Given the description of an element on the screen output the (x, y) to click on. 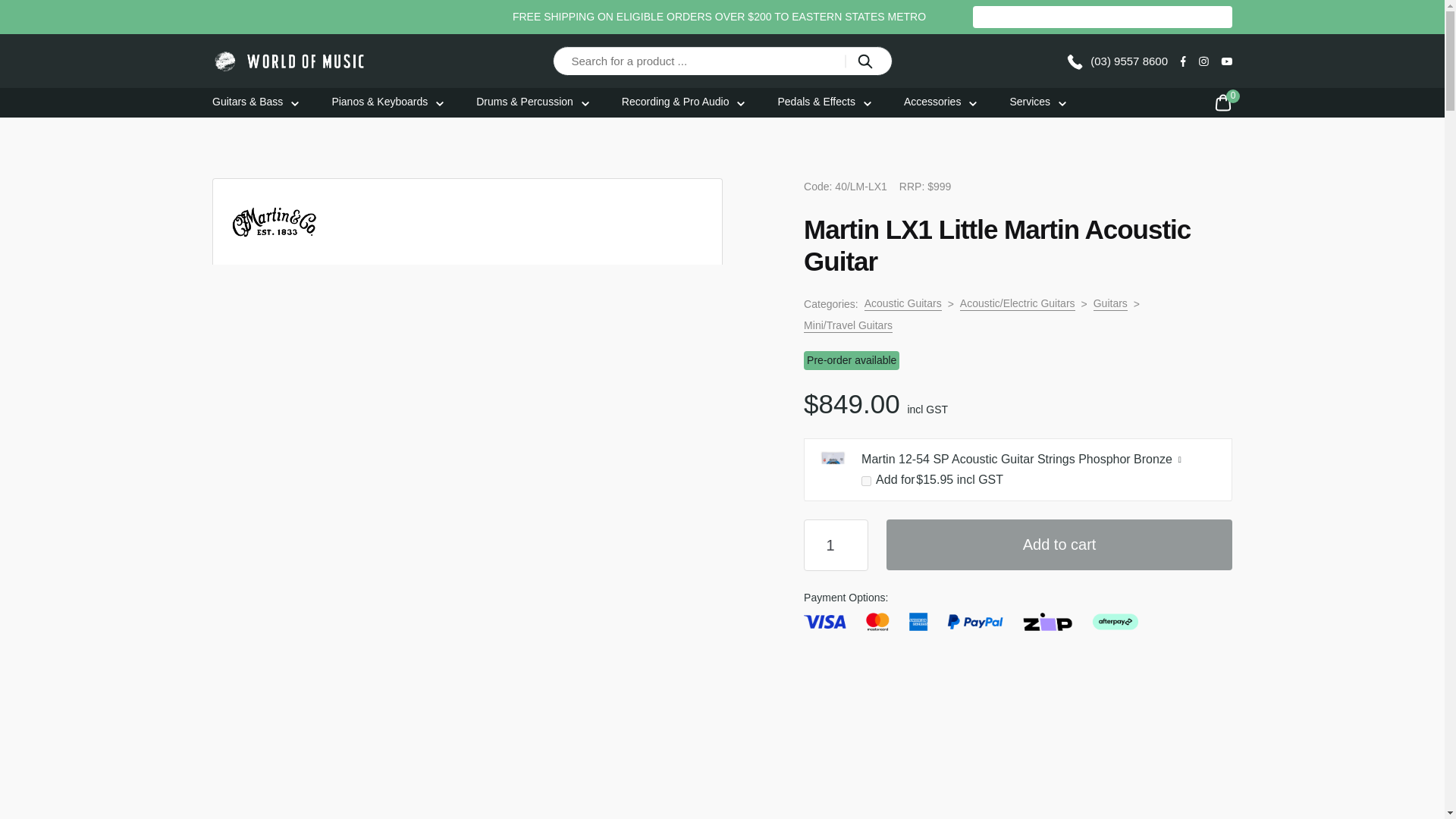
World of Music (290, 60)
Trustpilot (1207, 17)
Martin-Authentic-Acoustic-SP-MA540 (832, 467)
Pay with Master card, Visa, American Express and Paypal (970, 621)
Martin (274, 222)
1 (835, 544)
